Given the description of an element on the screen output the (x, y) to click on. 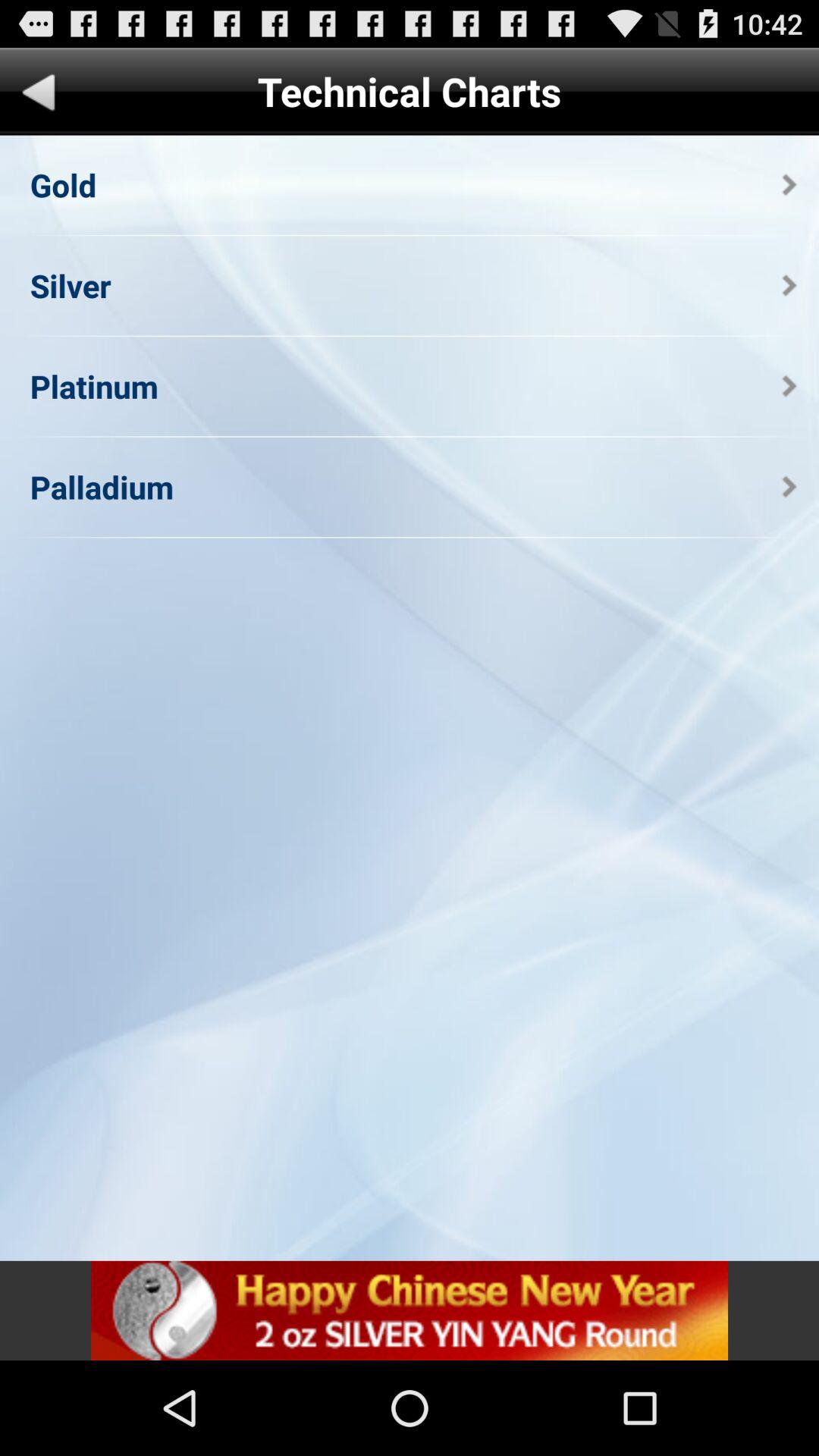
launch the app below the technical charts item (789, 184)
